Given the description of an element on the screen output the (x, y) to click on. 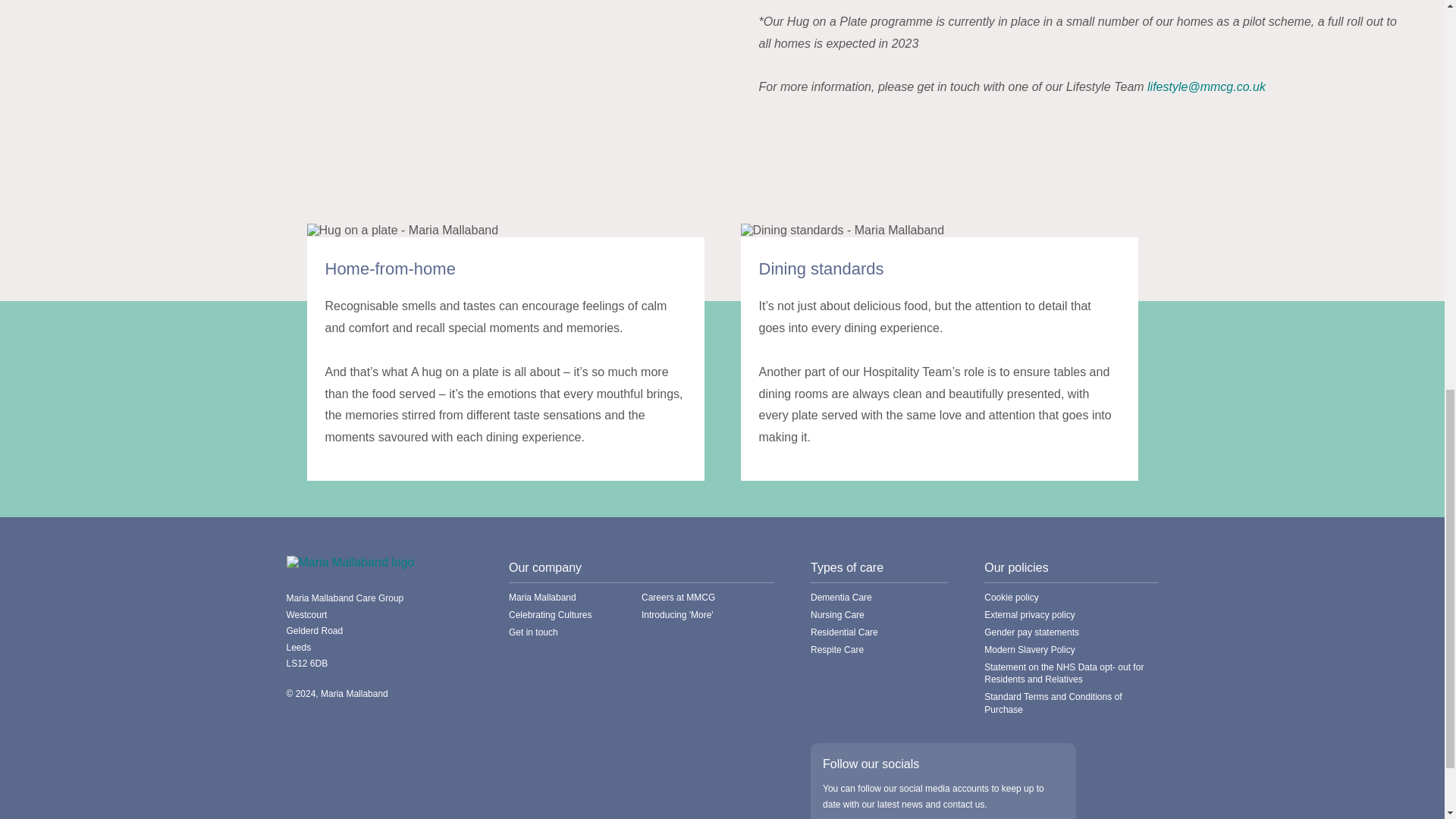
Home (350, 562)
